Given the description of an element on the screen output the (x, y) to click on. 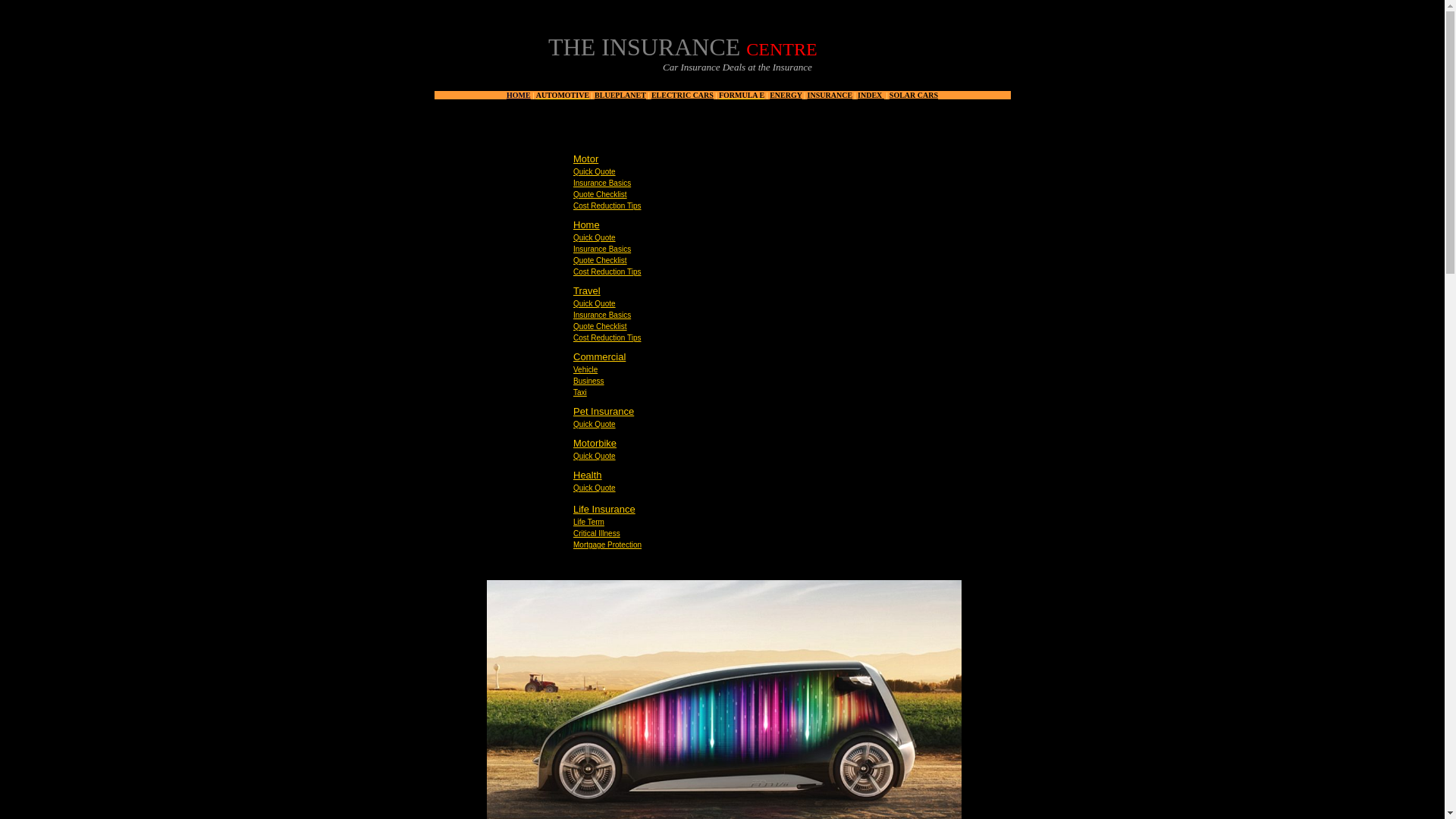
INSURANCE (829, 94)
Quick Quote (594, 424)
Cost Reduction Tips (607, 337)
HOME (518, 94)
FORMULA E (741, 92)
Motorbike (594, 442)
ELECTRIC CARS (681, 94)
Cost Reduction Tips (607, 271)
Insurance Basics (601, 183)
Quote Checklist (600, 260)
Quick Quote (594, 456)
SOLAR CARS (913, 94)
Quick Quote (594, 171)
Health (587, 474)
Commercial (599, 356)
